Given the description of an element on the screen output the (x, y) to click on. 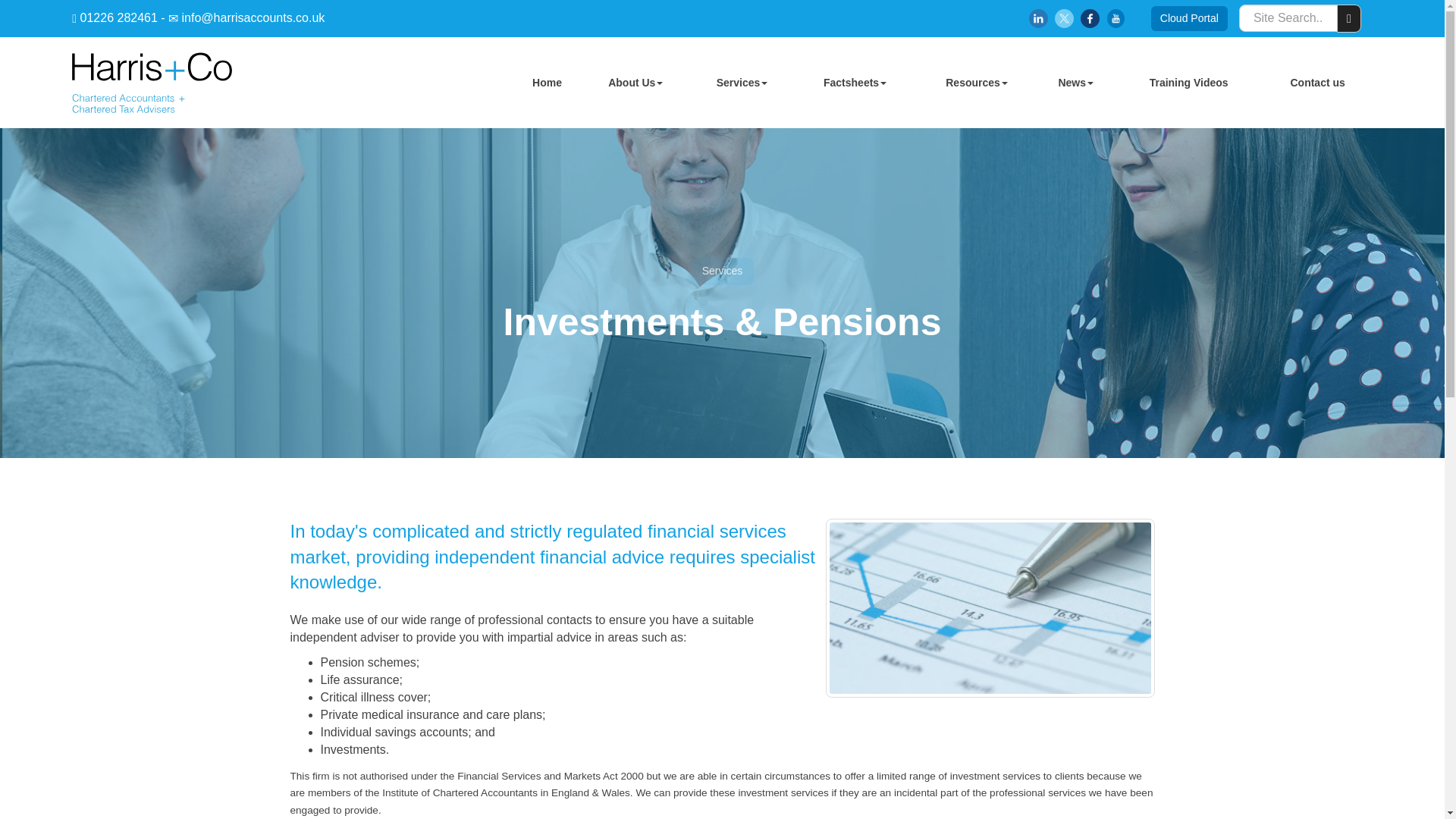
Services (741, 82)
LinkedIn (1038, 18)
About Us (635, 82)
About Us (635, 82)
Factsheets (855, 82)
facebook (1089, 18)
YouTube (1115, 18)
Services (741, 82)
Home (546, 82)
Home (546, 82)
Cloud Portal (1189, 18)
Twitter (1064, 18)
